Given the description of an element on the screen output the (x, y) to click on. 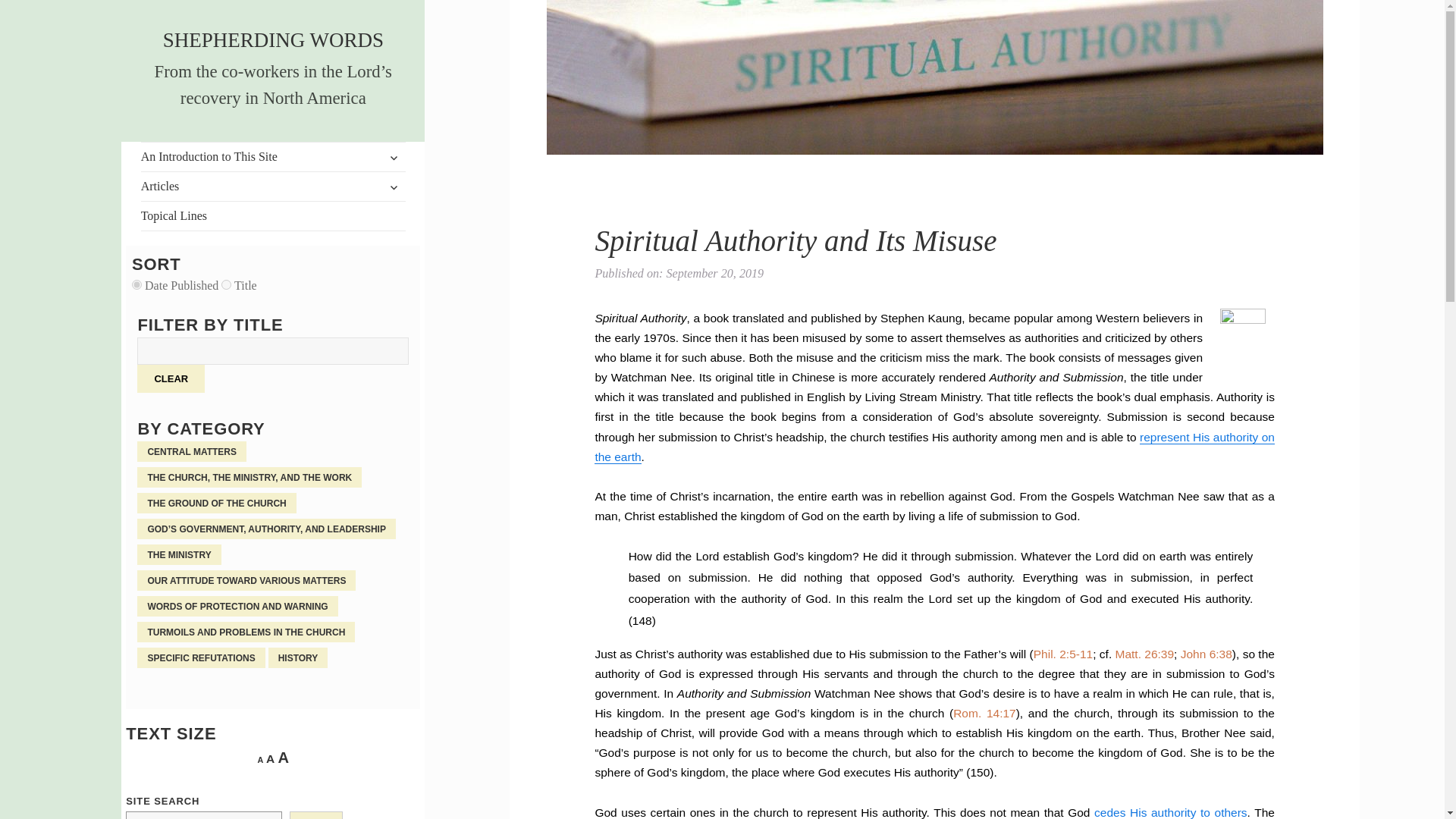
Articles (273, 185)
expand child menu (393, 187)
WORDS OF PROTECTION AND WARNING (236, 606)
THE CHURCH, THE MINISTRY, AND THE WORK (248, 476)
represent His authority on the earth (934, 447)
An Introduction to This Site (273, 156)
SHEPHERDING WORDS (273, 39)
TURMOILS AND PROBLEMS IN THE CHURCH (245, 631)
cedes His authority to others (1170, 812)
date (136, 284)
SPECIFIC REFUTATIONS (200, 657)
CENTRAL MATTERS (191, 451)
CLEAR (170, 378)
THE MINISTRY (178, 554)
OUR ATTITUDE TOWARD VARIOUS MATTERS (245, 580)
